Given the description of an element on the screen output the (x, y) to click on. 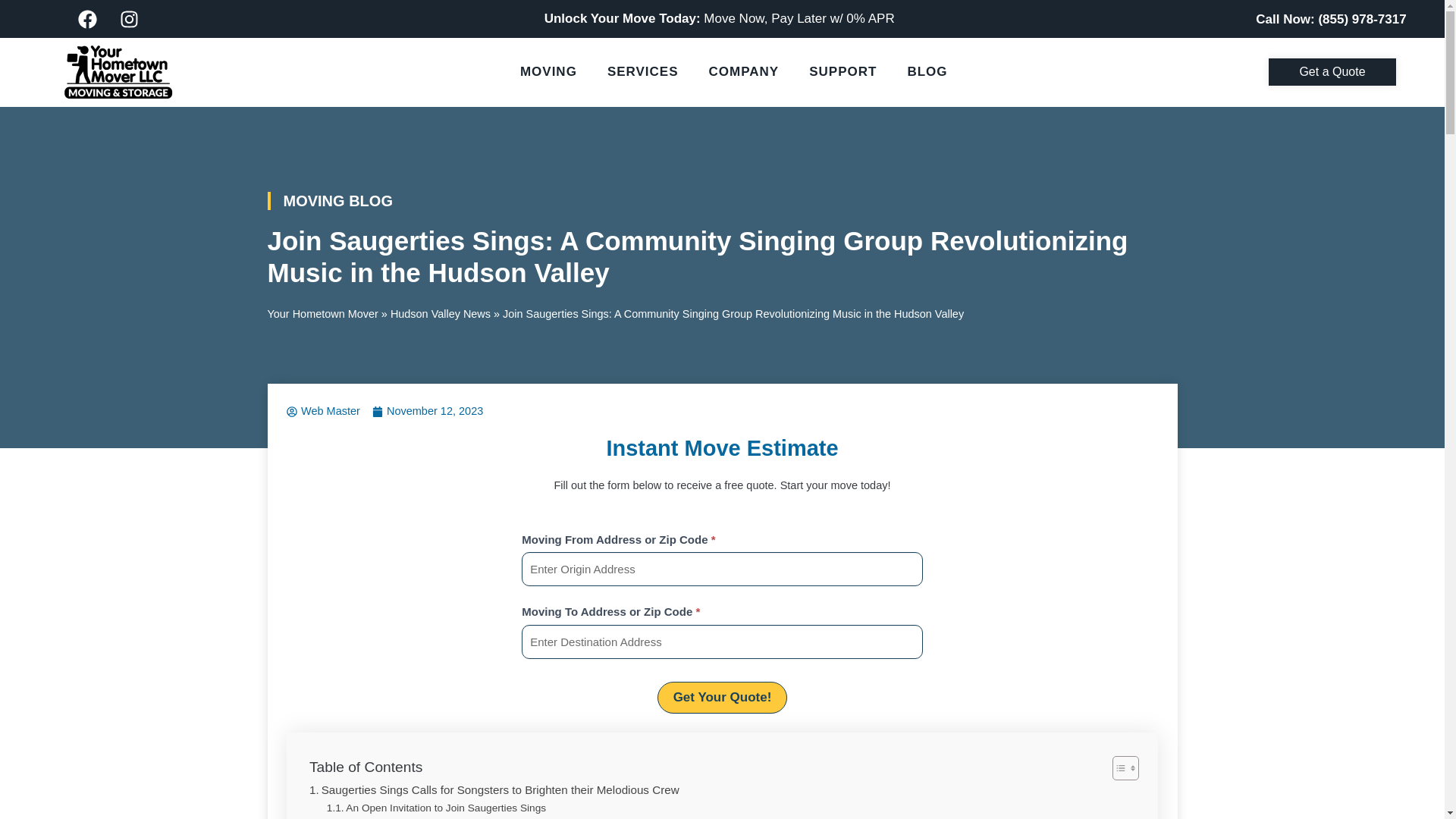
An Open Invitation to Join Saugerties Sings (436, 808)
Facebook (87, 18)
SERVICES (643, 72)
COMPANY (744, 72)
Instagram (129, 18)
Saugerties Sings: A Community Singing Group (443, 817)
MOVING (548, 72)
